Given the description of an element on the screen output the (x, y) to click on. 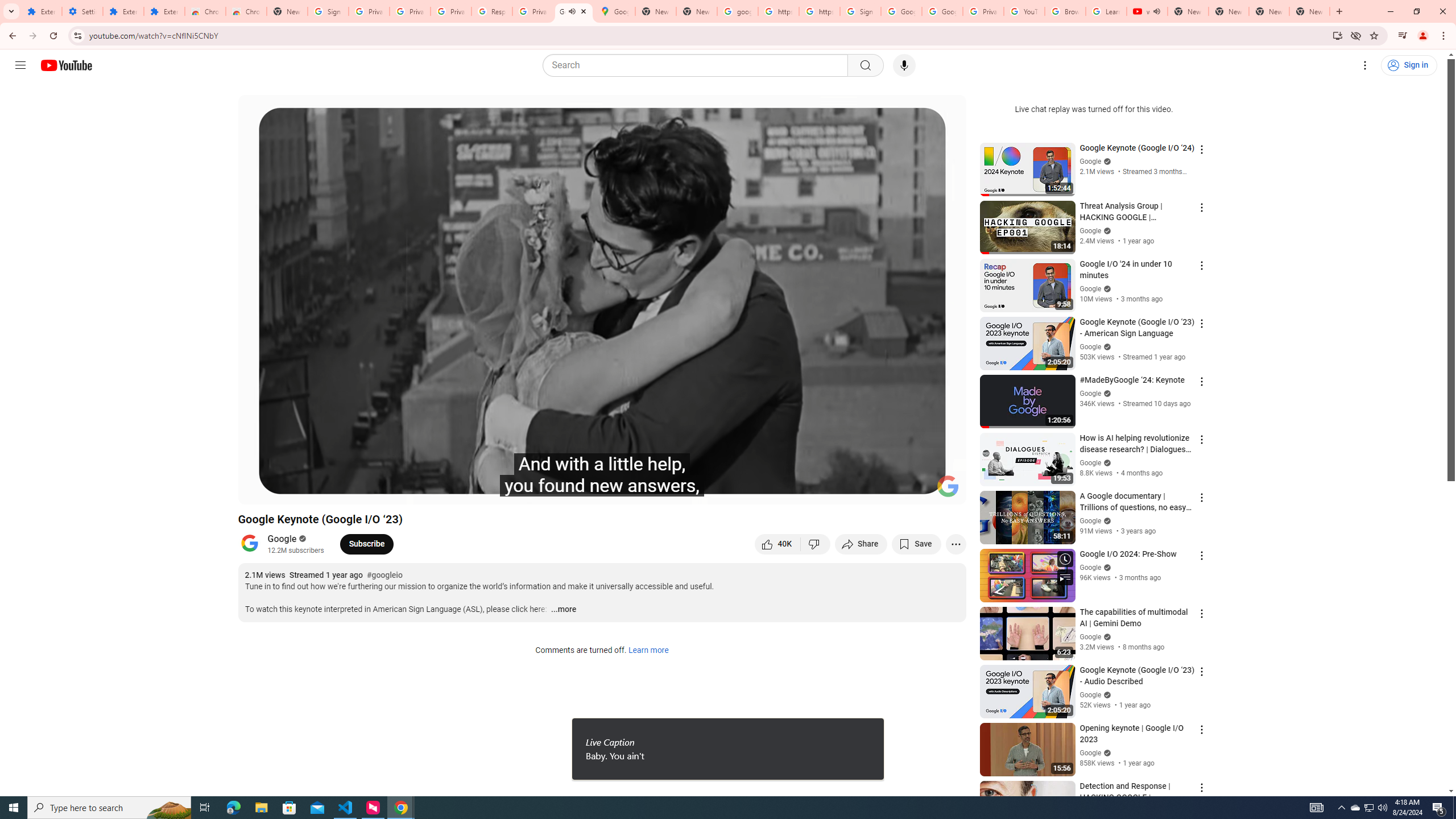
Chrome Web Store - Themes (246, 11)
https://scholar.google.com/ (818, 11)
Full screen (f) (945, 490)
...more (563, 609)
